Given the description of an element on the screen output the (x, y) to click on. 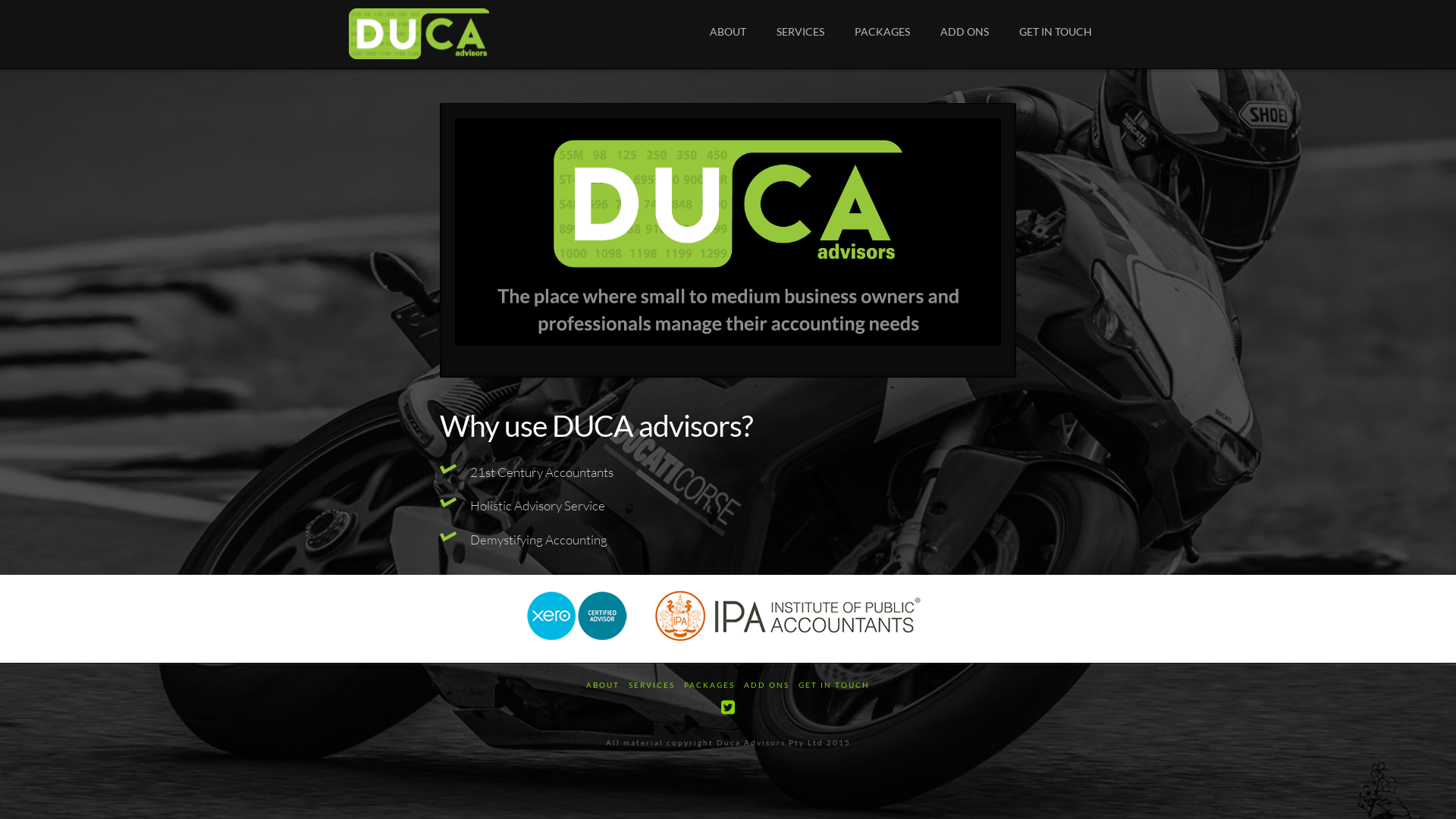
PACKAGES Element type: text (709, 684)
Twitter Element type: hover (727, 707)
ADD ONS Element type: text (766, 684)
ABOUT Element type: text (602, 684)
GET IN TOUCH Element type: text (833, 684)
ADD ONS Element type: text (964, 34)
PACKAGES Element type: text (882, 34)
SERVICES Element type: text (651, 684)
GET IN TOUCH Element type: text (1055, 34)
21st Century Business and Taxation advisors Element type: hover (418, 33)
SERVICES Element type: text (800, 34)
ABOUT Element type: text (727, 34)
